Given the description of an element on the screen output the (x, y) to click on. 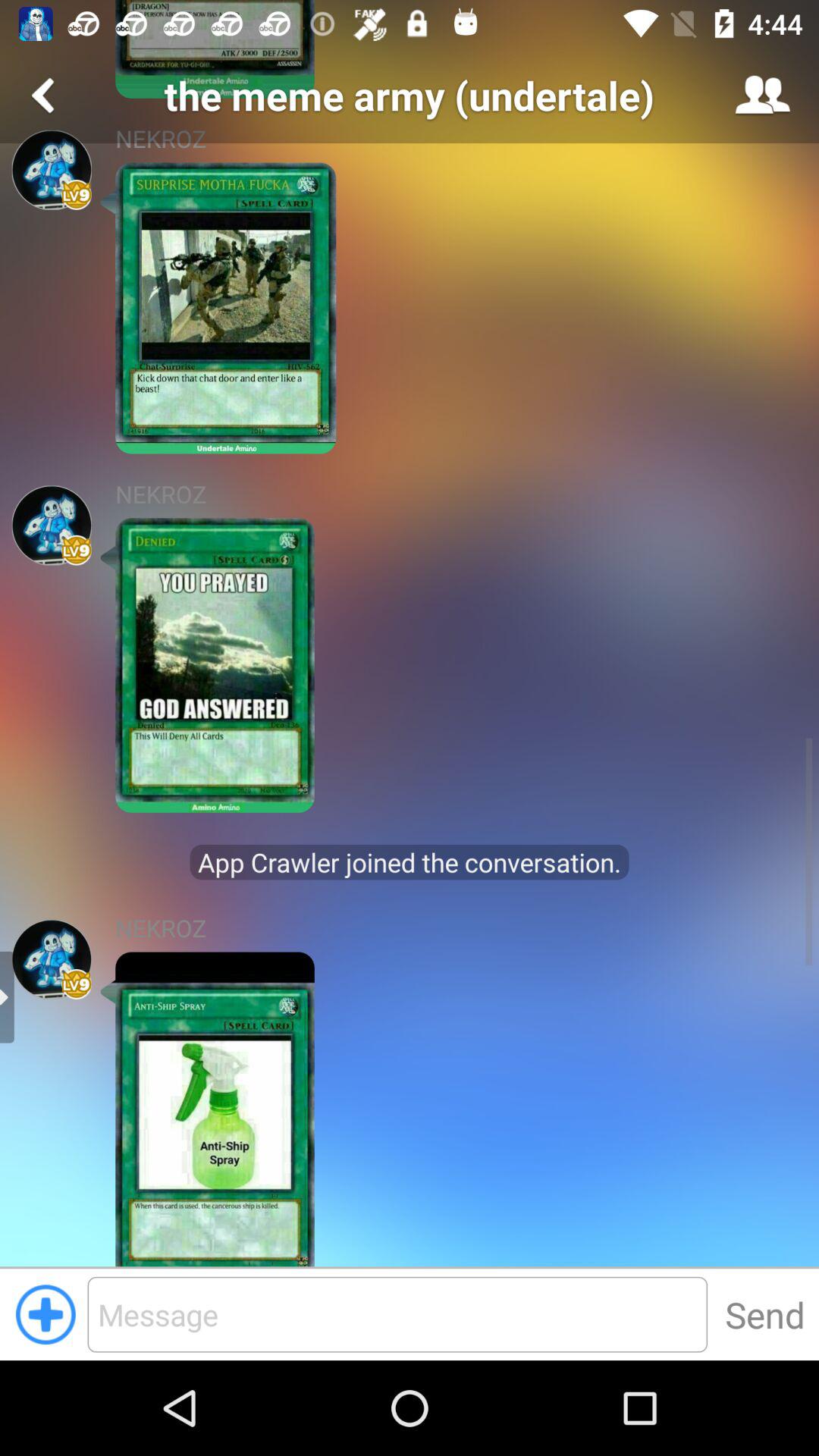
go to previous (45, 95)
